Given the description of an element on the screen output the (x, y) to click on. 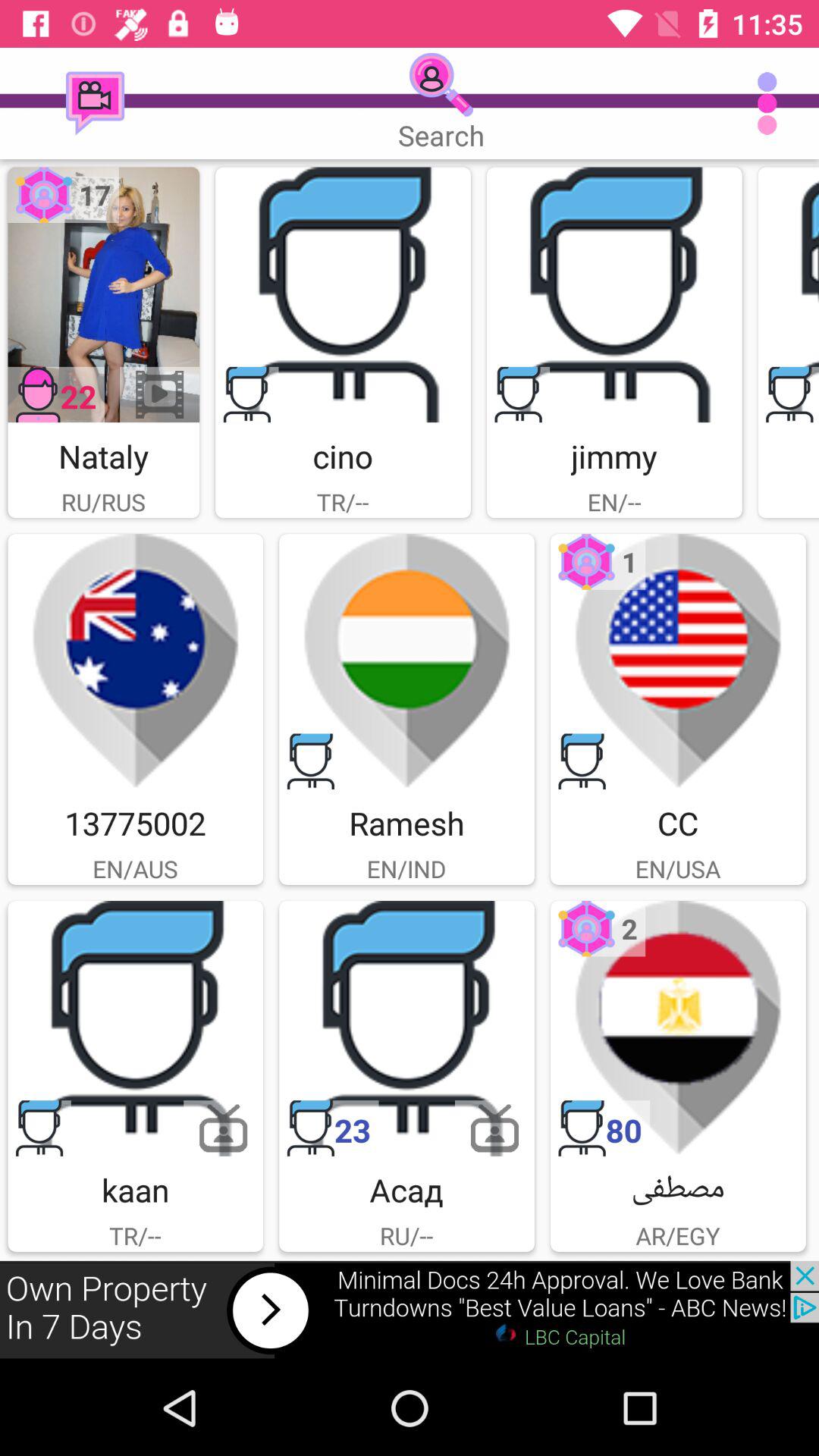
select egypt (677, 1028)
